Given the description of an element on the screen output the (x, y) to click on. 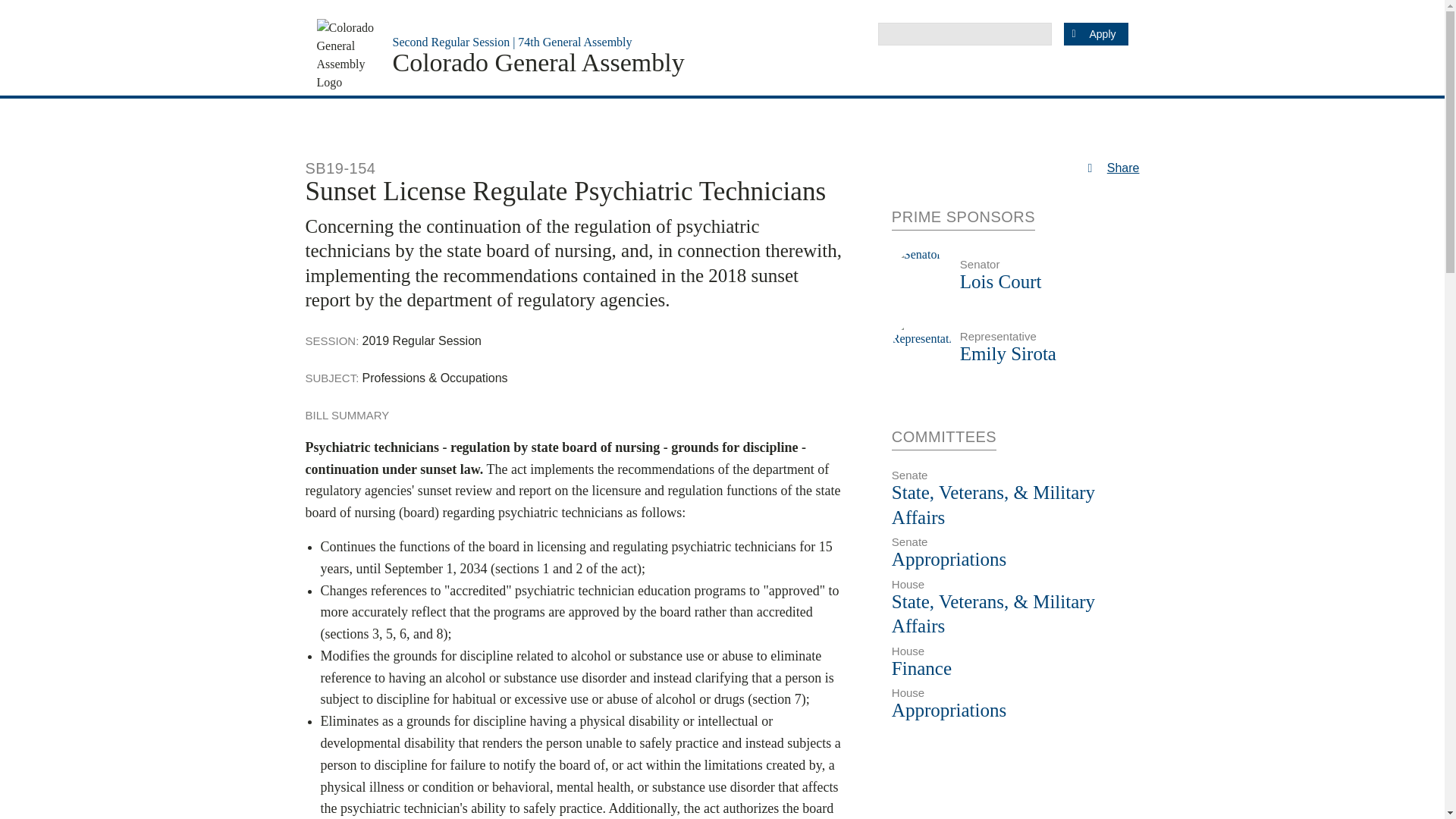
Home (538, 62)
Apply (1094, 34)
Apply (1094, 34)
Colorado General Assembly (538, 62)
